Given the description of an element on the screen output the (x, y) to click on. 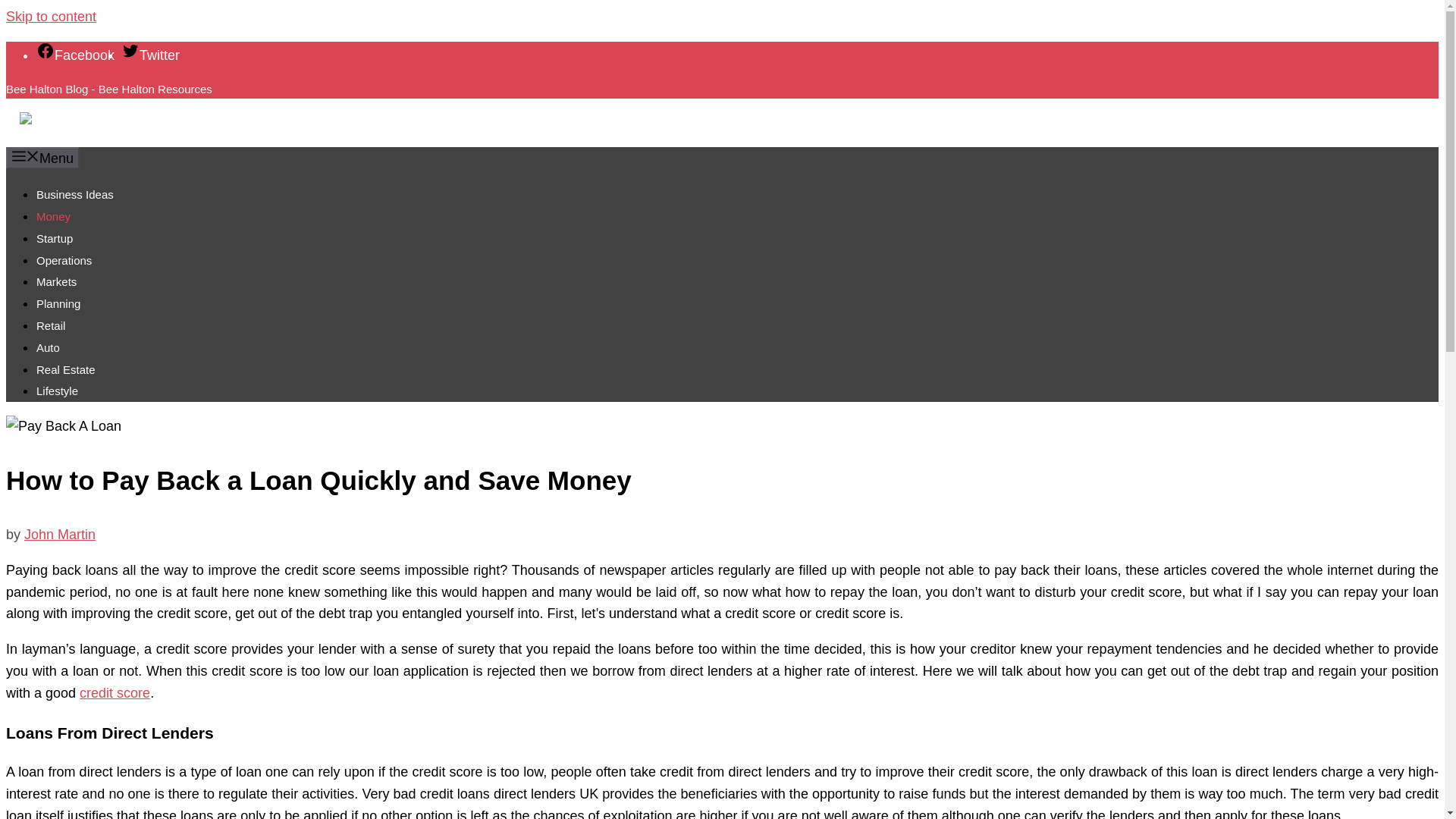
John Martin (60, 534)
Lifestyle (57, 390)
Facebook (75, 55)
Skip to content (50, 16)
Twitter (149, 55)
Real Estate (66, 369)
Menu (42, 157)
View all posts by John Martin (60, 534)
Auto (47, 347)
credit score (114, 693)
Planning (58, 303)
Retail (50, 325)
Startup (54, 237)
Markets (56, 281)
Operations (63, 259)
